Given the description of an element on the screen output the (x, y) to click on. 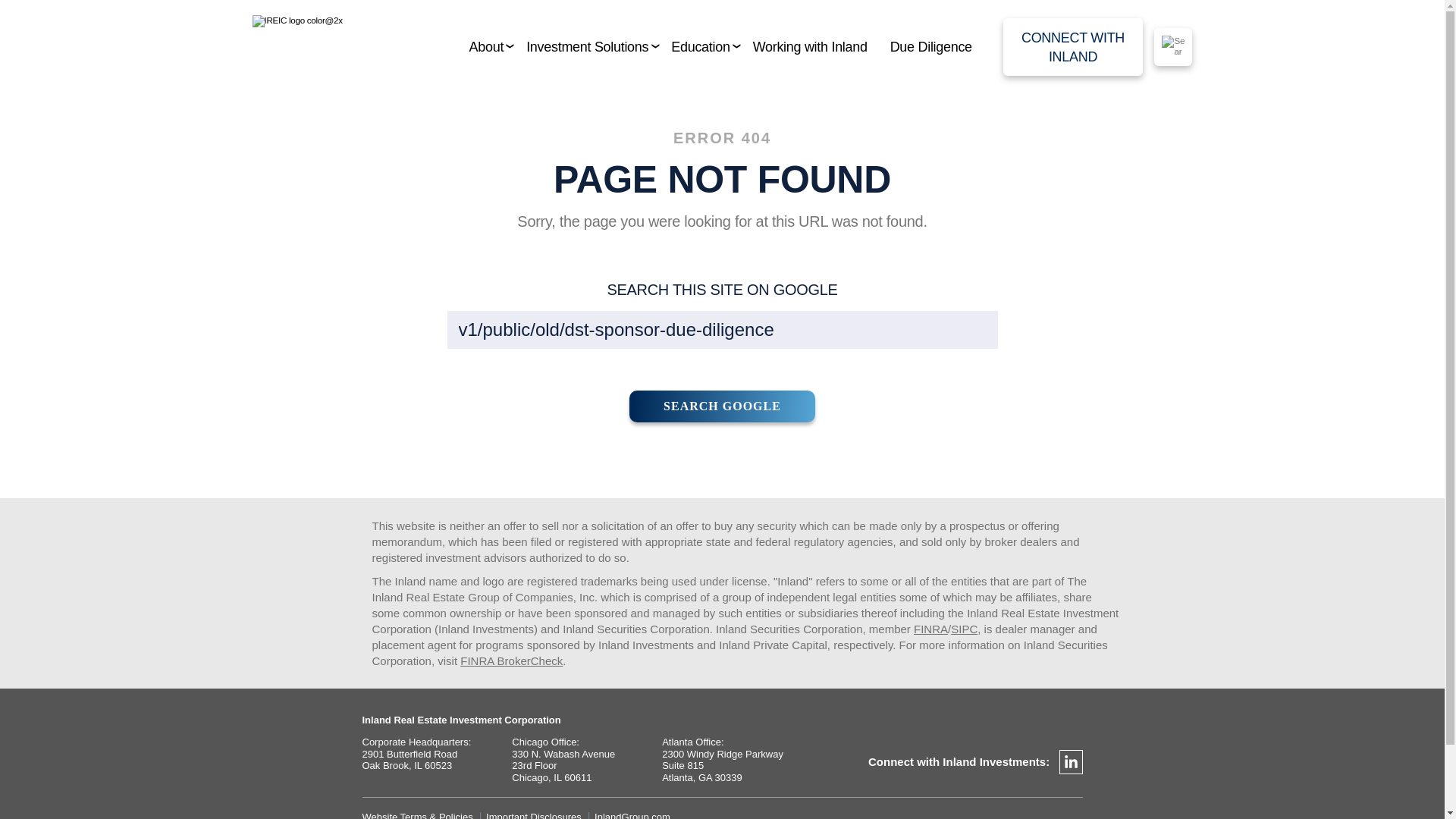
Investment Solutions (586, 46)
SIPC (963, 628)
CONNECT WITH INLAND (1073, 47)
FINRA BrokerCheck (511, 660)
FINRA (930, 628)
About (485, 46)
Education (700, 46)
Due Diligence (930, 46)
Working with Inland (809, 46)
SEARCH GOOGLE (721, 406)
